Given the description of an element on the screen output the (x, y) to click on. 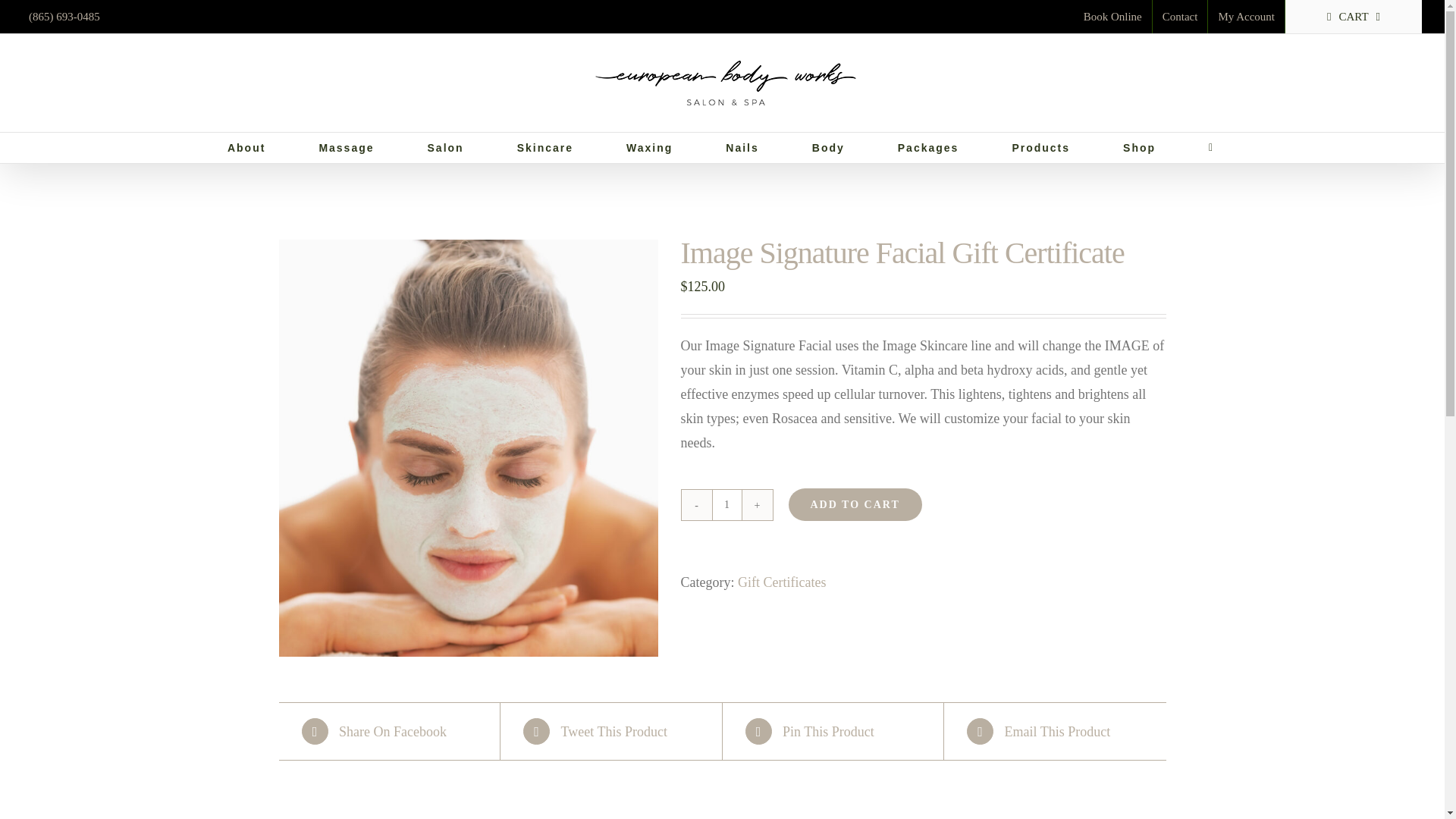
Body (828, 147)
Book Online (1112, 16)
Salon (446, 147)
Contact (1180, 16)
Massage (346, 147)
CART (1353, 16)
1 (726, 504)
About (245, 147)
My Account (1246, 16)
Nails (741, 147)
Waxing (649, 147)
Skincare (544, 147)
Log In (1291, 185)
- (696, 504)
